Given the description of an element on the screen output the (x, y) to click on. 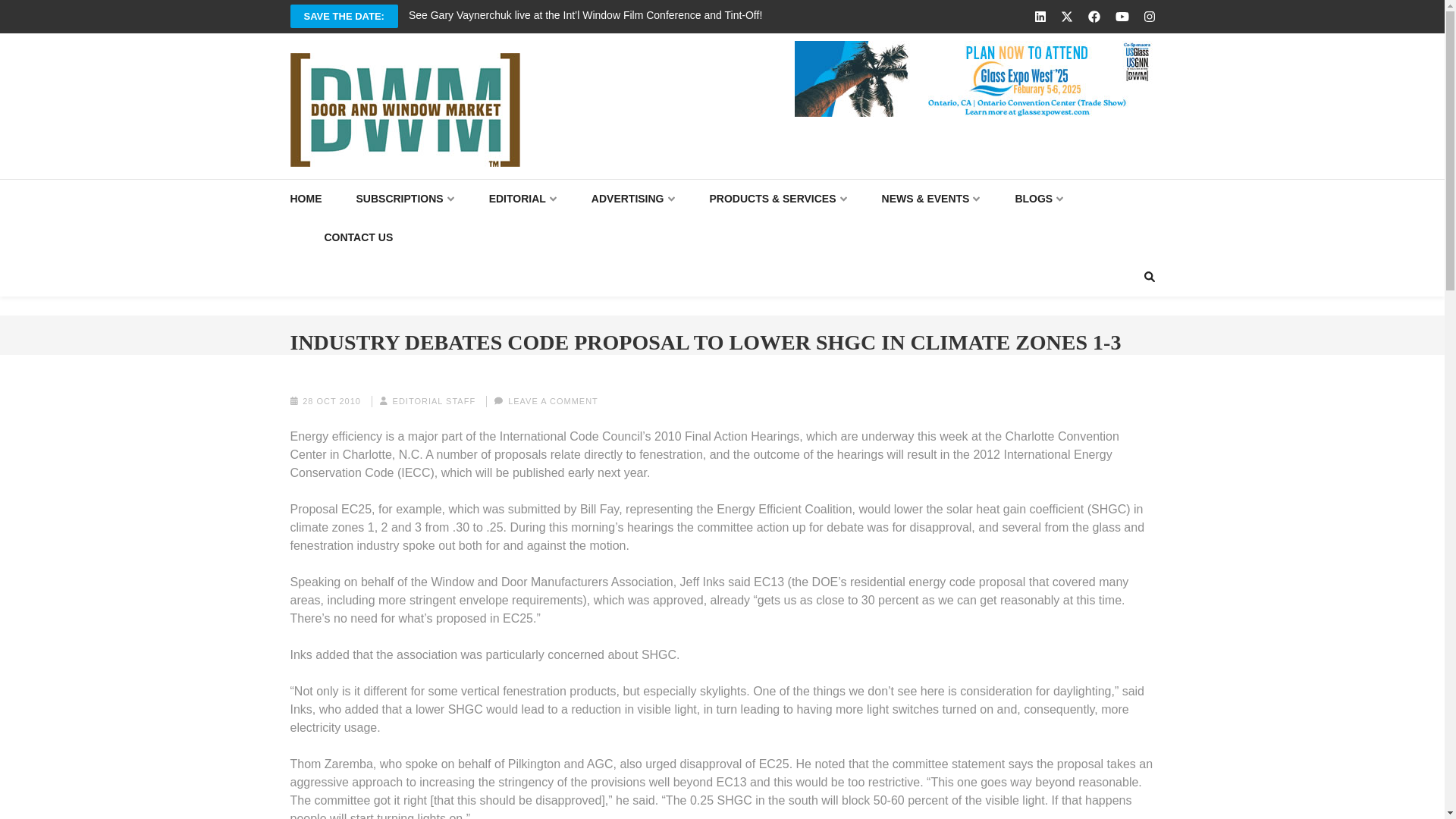
SAVE THE DATE: (343, 15)
SUBSCRIPTIONS (405, 198)
EDITORIAL (523, 198)
ADVERTISING (633, 198)
BLOGS (1039, 198)
DOOR AND WINDOW MARKET MAGAZINE (566, 181)
